Given the description of an element on the screen output the (x, y) to click on. 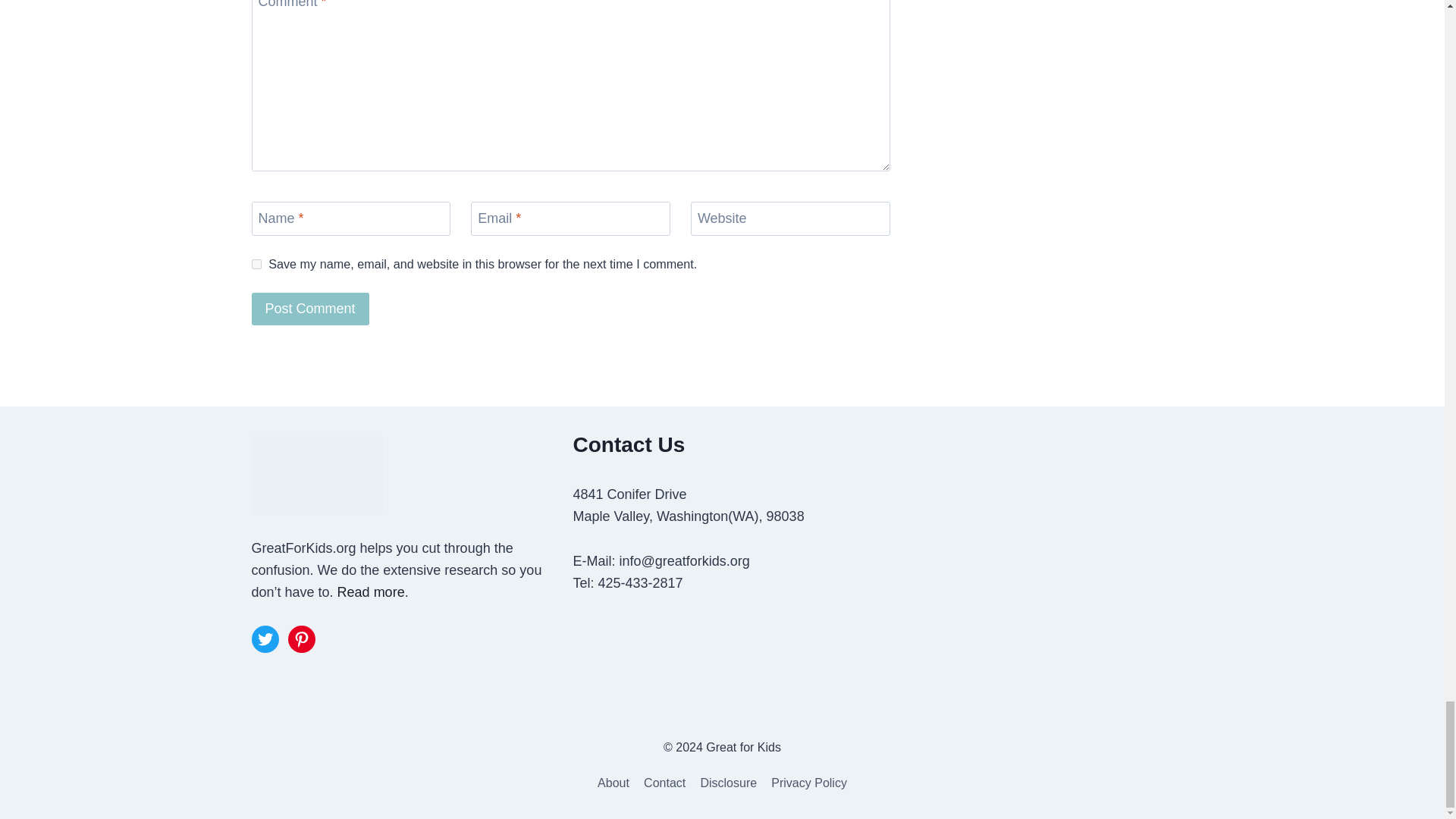
yes (256, 264)
Post Comment (310, 308)
